Given the description of an element on the screen output the (x, y) to click on. 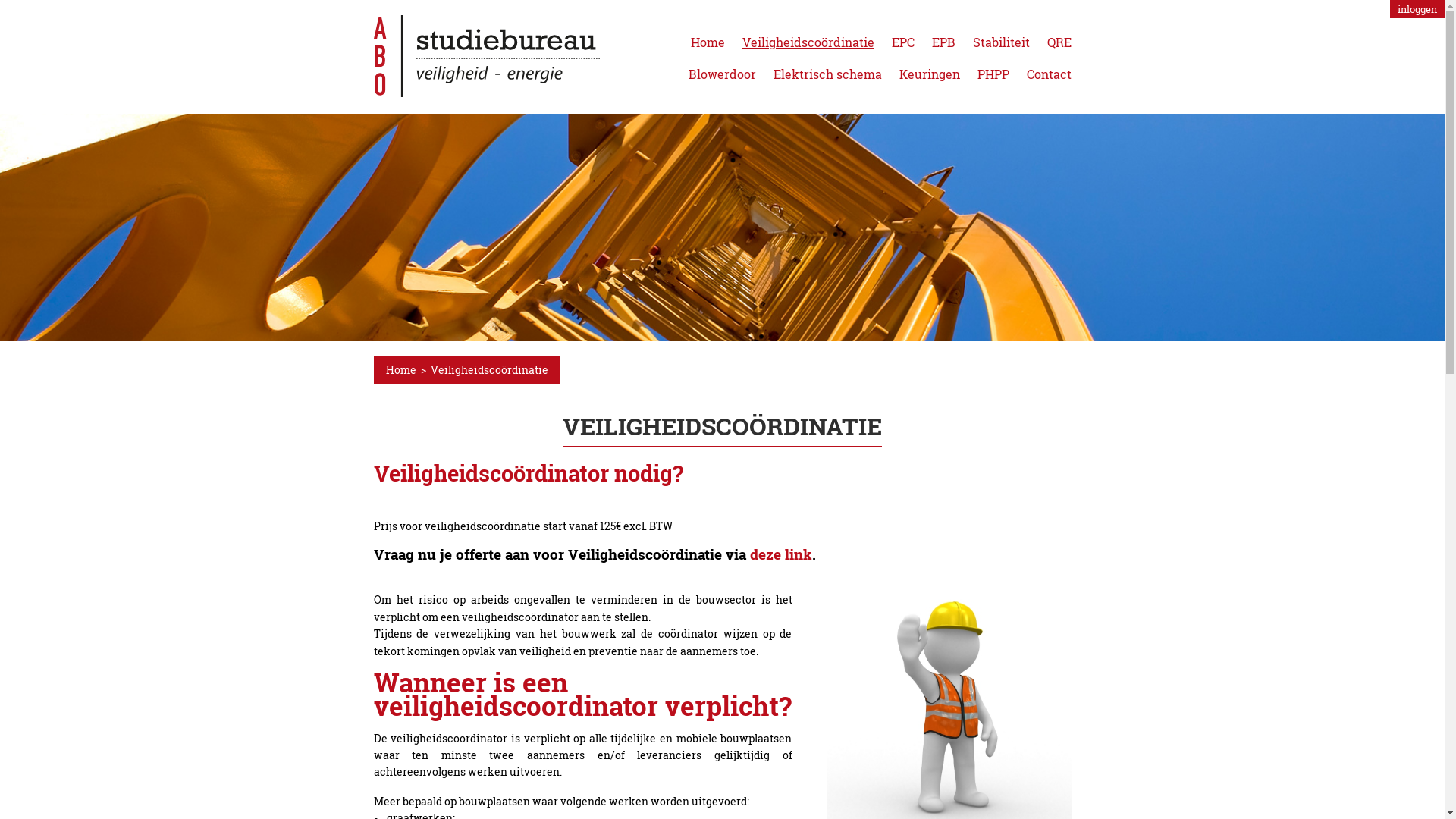
PHPP Element type: text (992, 74)
deze link Element type: text (780, 553)
QRE Element type: text (1058, 42)
Overslaan en naar de inhoud gaan Element type: text (86, 0)
Home Element type: text (400, 369)
Keuringen Element type: text (929, 74)
/ Element type: hover (486, 56)
EPC Element type: text (902, 42)
Stabiliteit Element type: text (1000, 42)
Contact Element type: text (1048, 74)
Blowerdoor Element type: text (722, 74)
Home Element type: text (707, 42)
Elektrisch schema Element type: text (827, 74)
inloggen Element type: text (1417, 9)
EPB Element type: text (942, 42)
